Given the description of an element on the screen output the (x, y) to click on. 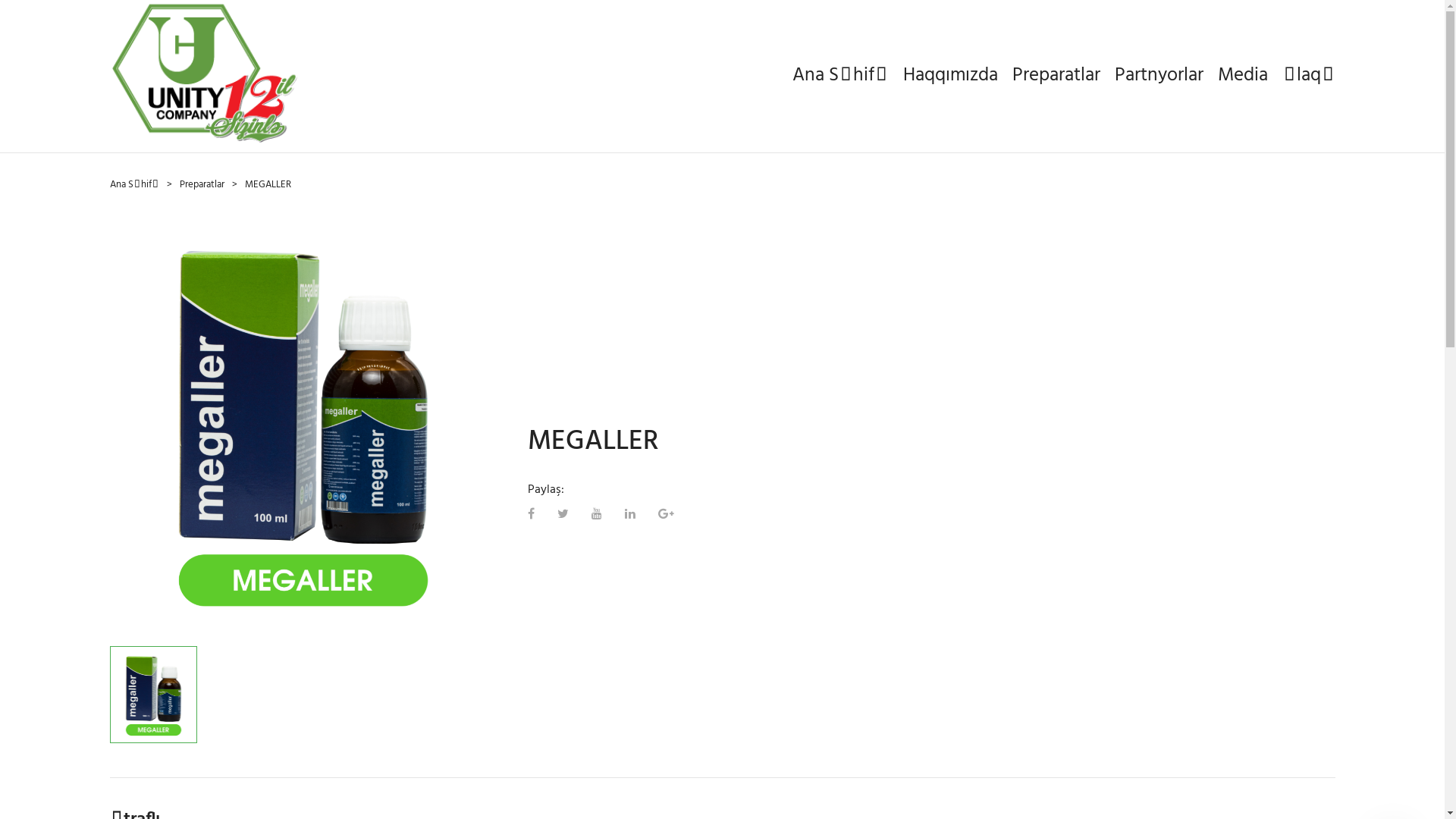
Media Element type: text (1242, 75)
Partnyorlar Element type: text (1158, 75)
Preparatlar Element type: text (1055, 75)
